Given the description of an element on the screen output the (x, y) to click on. 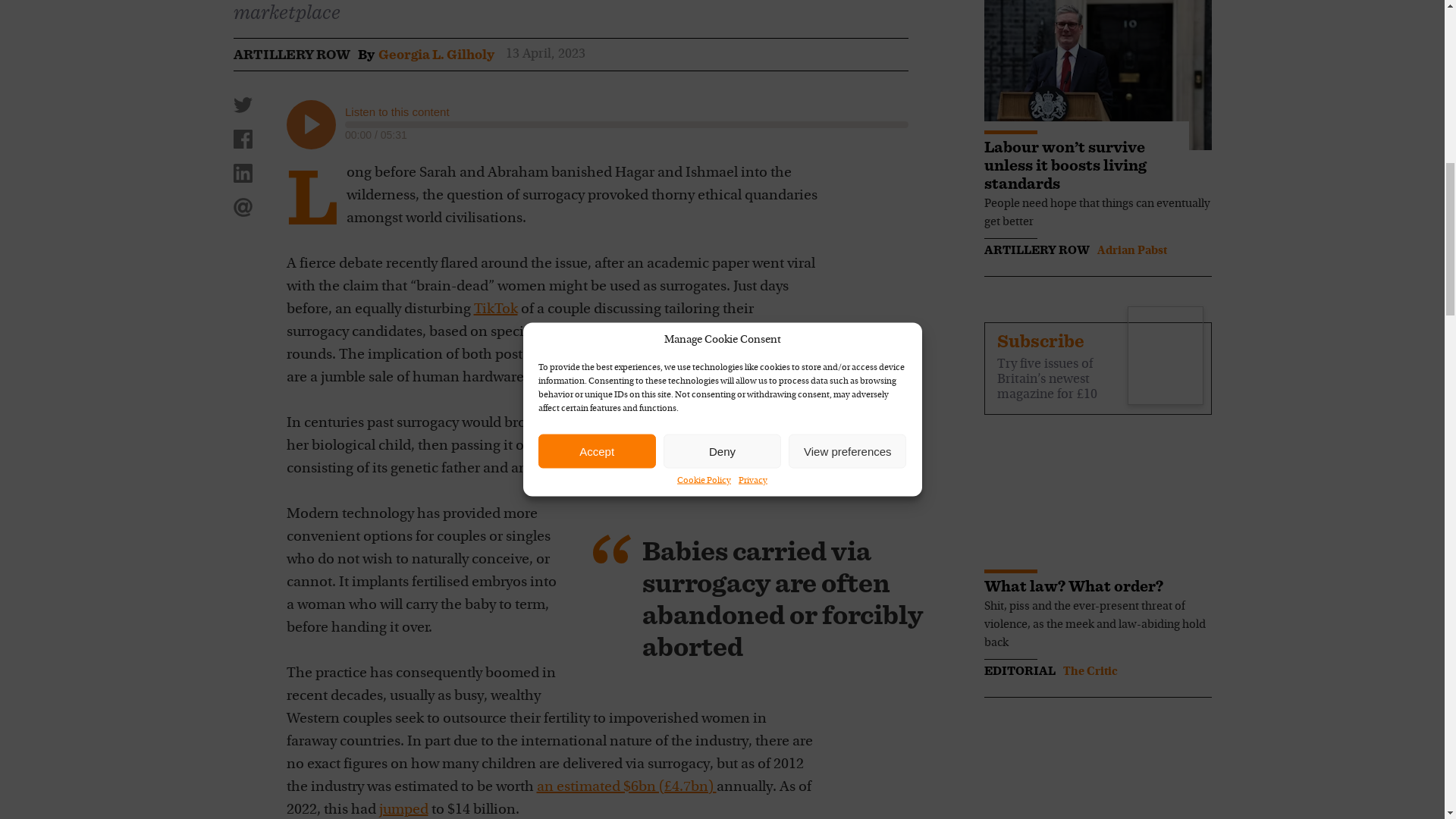
Posts by Adrian Pabst (1131, 250)
TikTok (494, 309)
jumped (403, 809)
Posts by Georgia L. Gilholy (435, 54)
Georgia L. Gilholy (435, 54)
Posts by The Critic (1090, 671)
ARTILLERY ROW (291, 54)
